Given the description of an element on the screen output the (x, y) to click on. 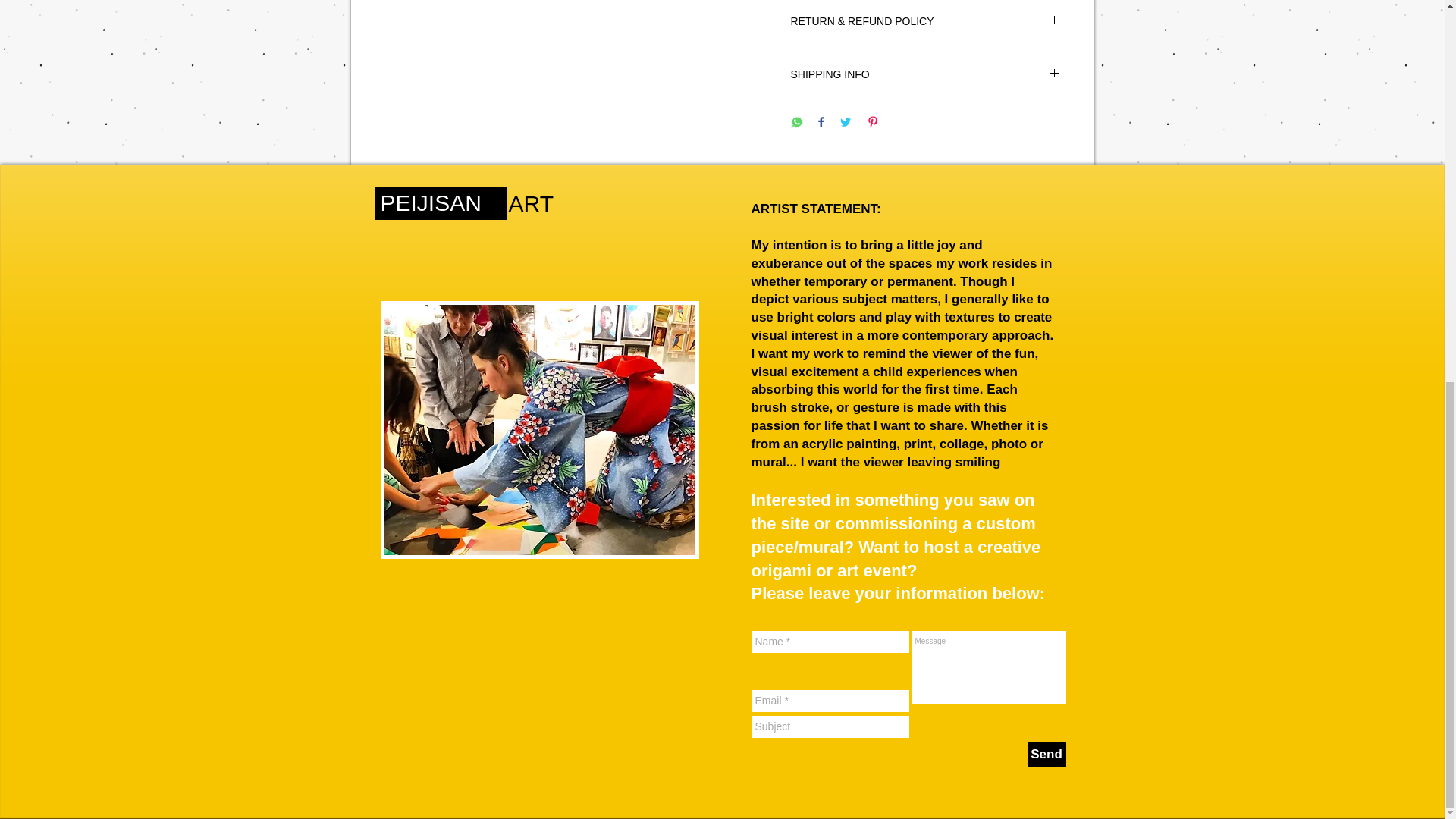
SHIPPING INFO (924, 75)
Send (1045, 754)
